Given the description of an element on the screen output the (x, y) to click on. 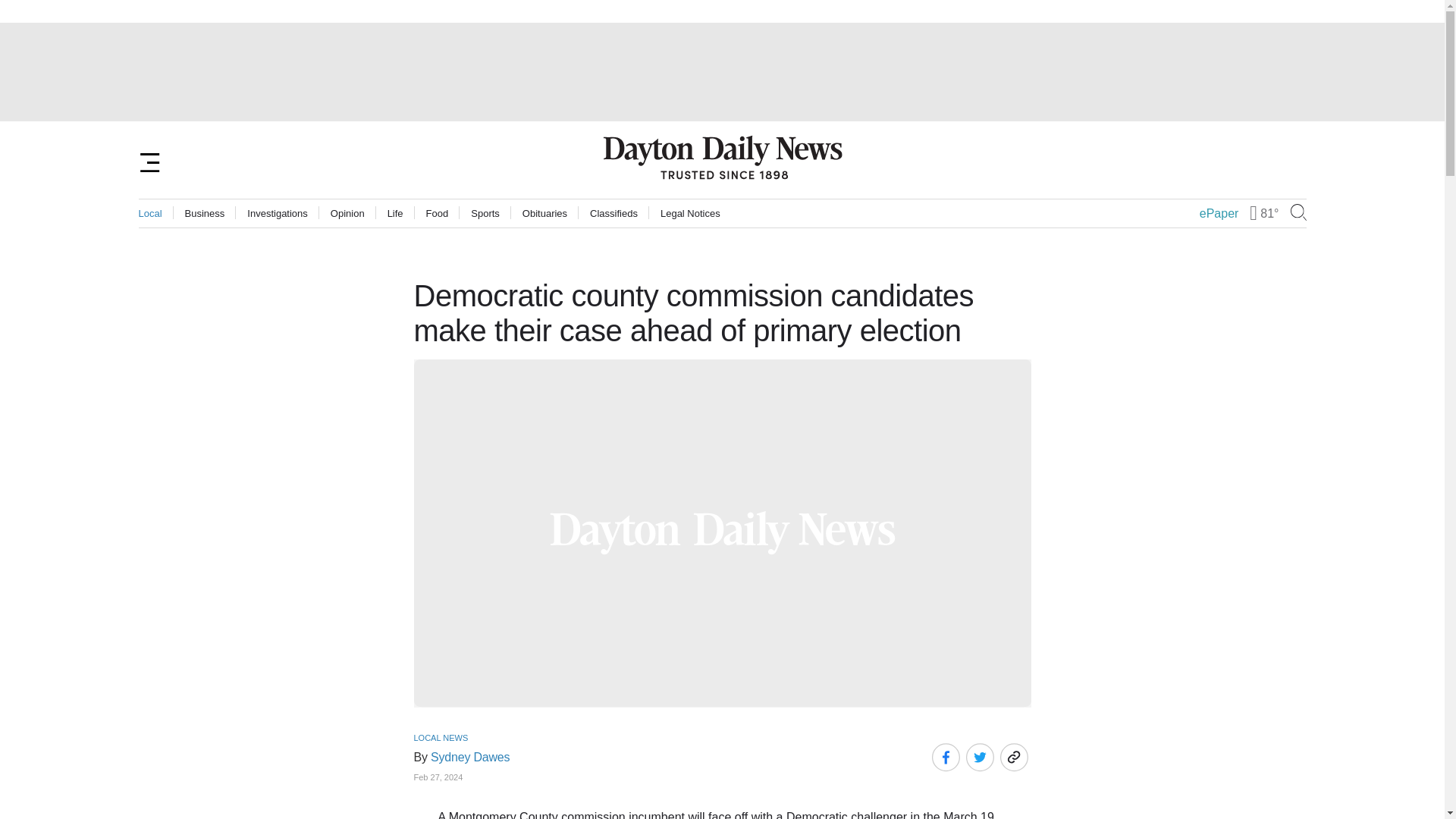
Legal Notices (690, 213)
Local (149, 213)
Life (395, 213)
Investigations (277, 213)
Sunny (1253, 213)
Opinion (347, 213)
Business (204, 213)
Classifieds (613, 213)
ePaper (1219, 214)
Obituaries (544, 213)
Sports (484, 213)
Food (437, 213)
